Given the description of an element on the screen output the (x, y) to click on. 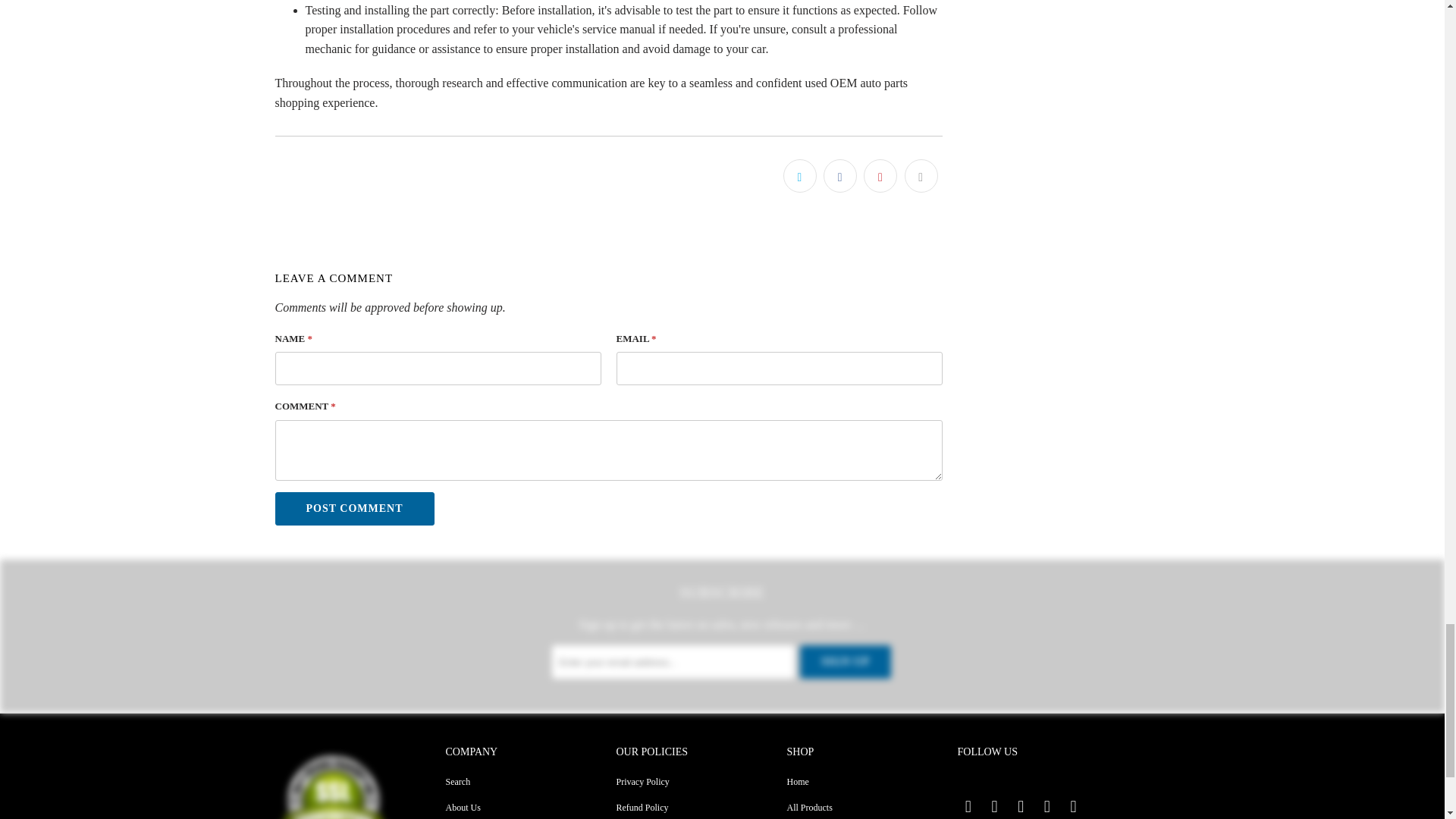
Share this on Facebook (840, 175)
Post comment (354, 508)
Sign Up (845, 661)
Share this on Twitter (799, 175)
